Given the description of an element on the screen output the (x, y) to click on. 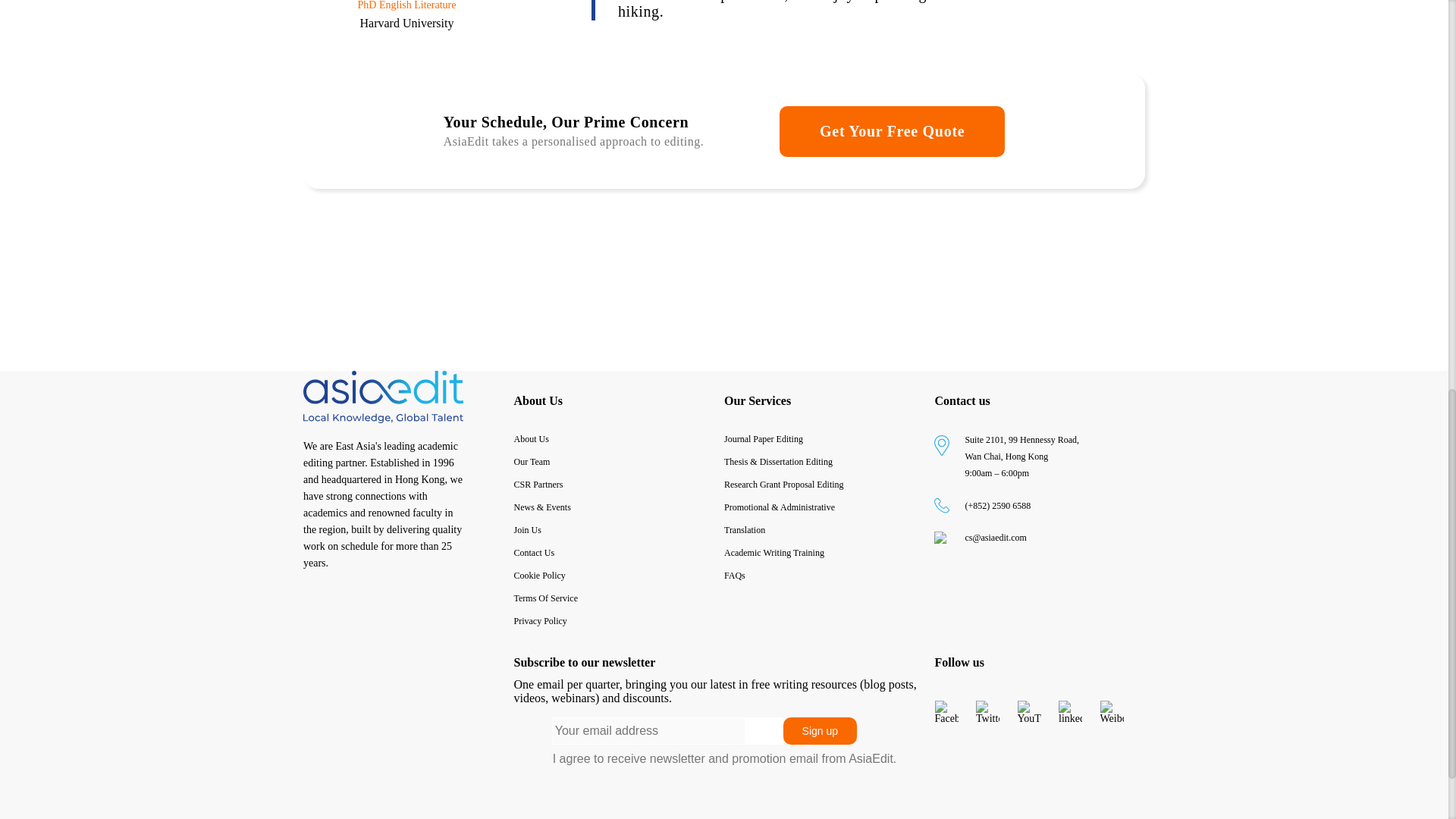
About Us (537, 400)
Get Your Free Quote (891, 131)
About Us (618, 438)
